Given the description of an element on the screen output the (x, y) to click on. 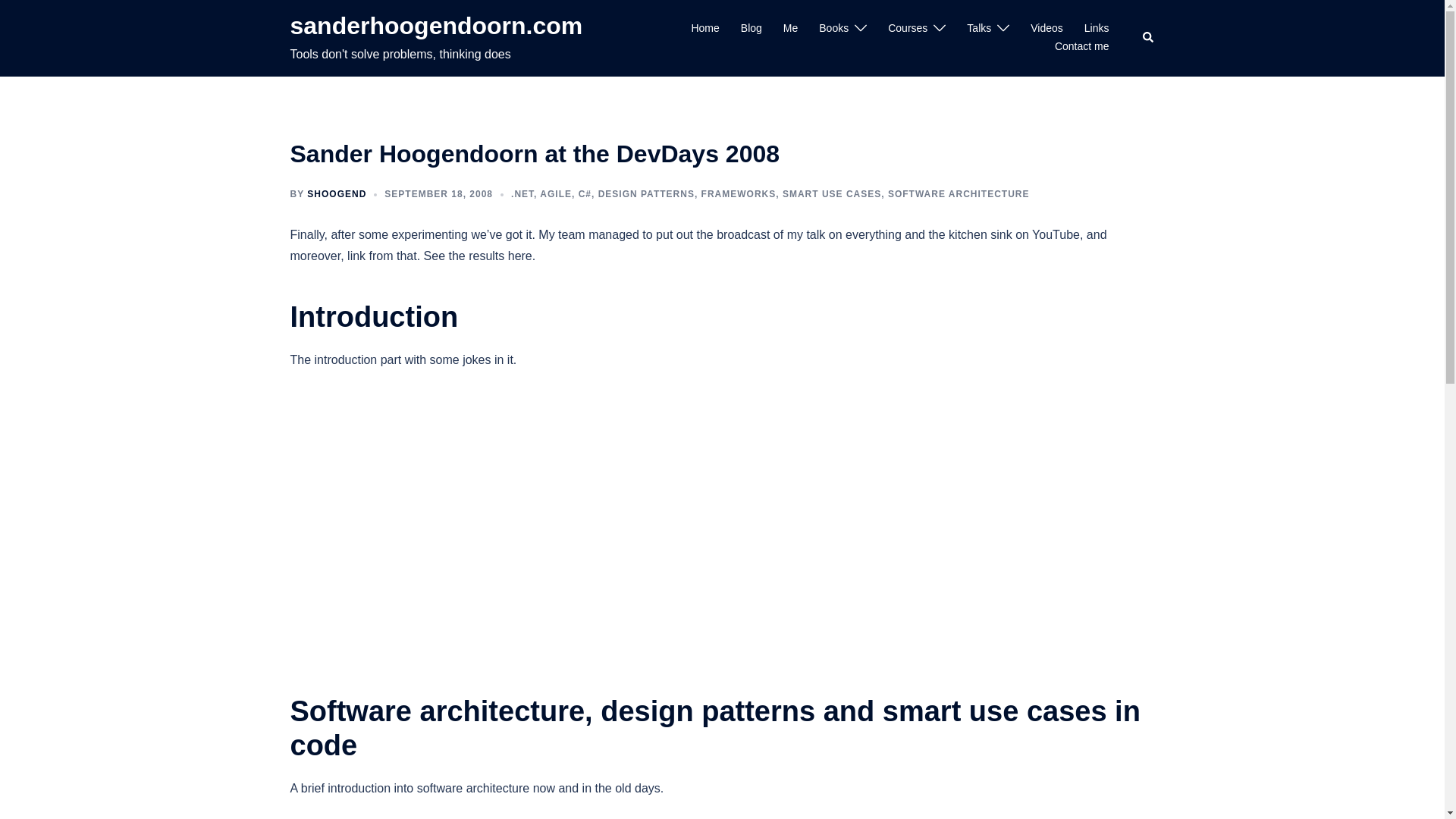
Courses (907, 28)
Videos (1046, 28)
Books (833, 28)
sanderhoogendoorn.com (435, 25)
Home (704, 28)
Search (1147, 37)
Blog (751, 28)
Contact me (1081, 46)
Talks (978, 28)
Links (1096, 28)
